Given the description of an element on the screen output the (x, y) to click on. 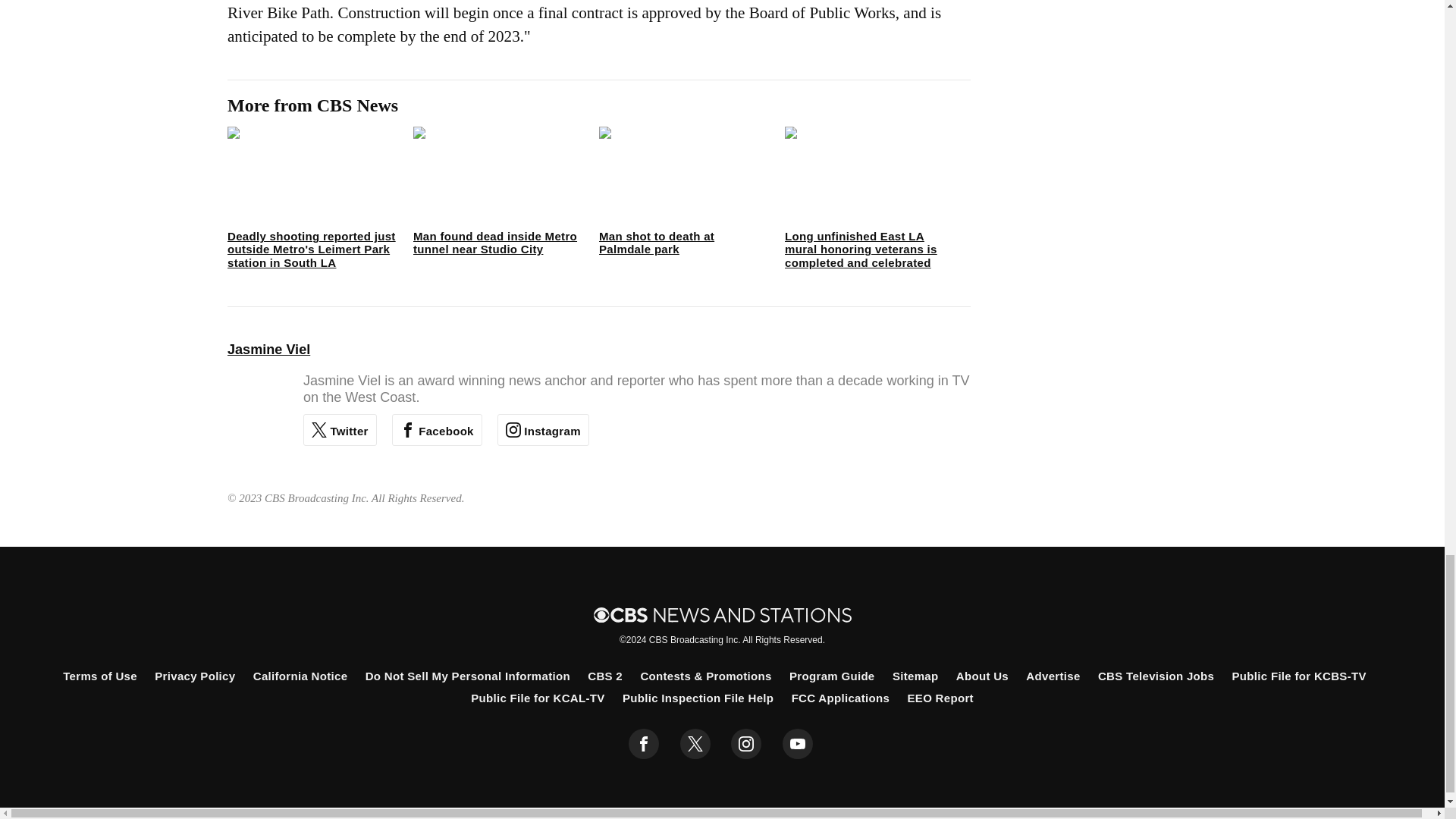
twitter (694, 743)
facebook (643, 743)
instagram (745, 743)
youtube (797, 743)
